Given the description of an element on the screen output the (x, y) to click on. 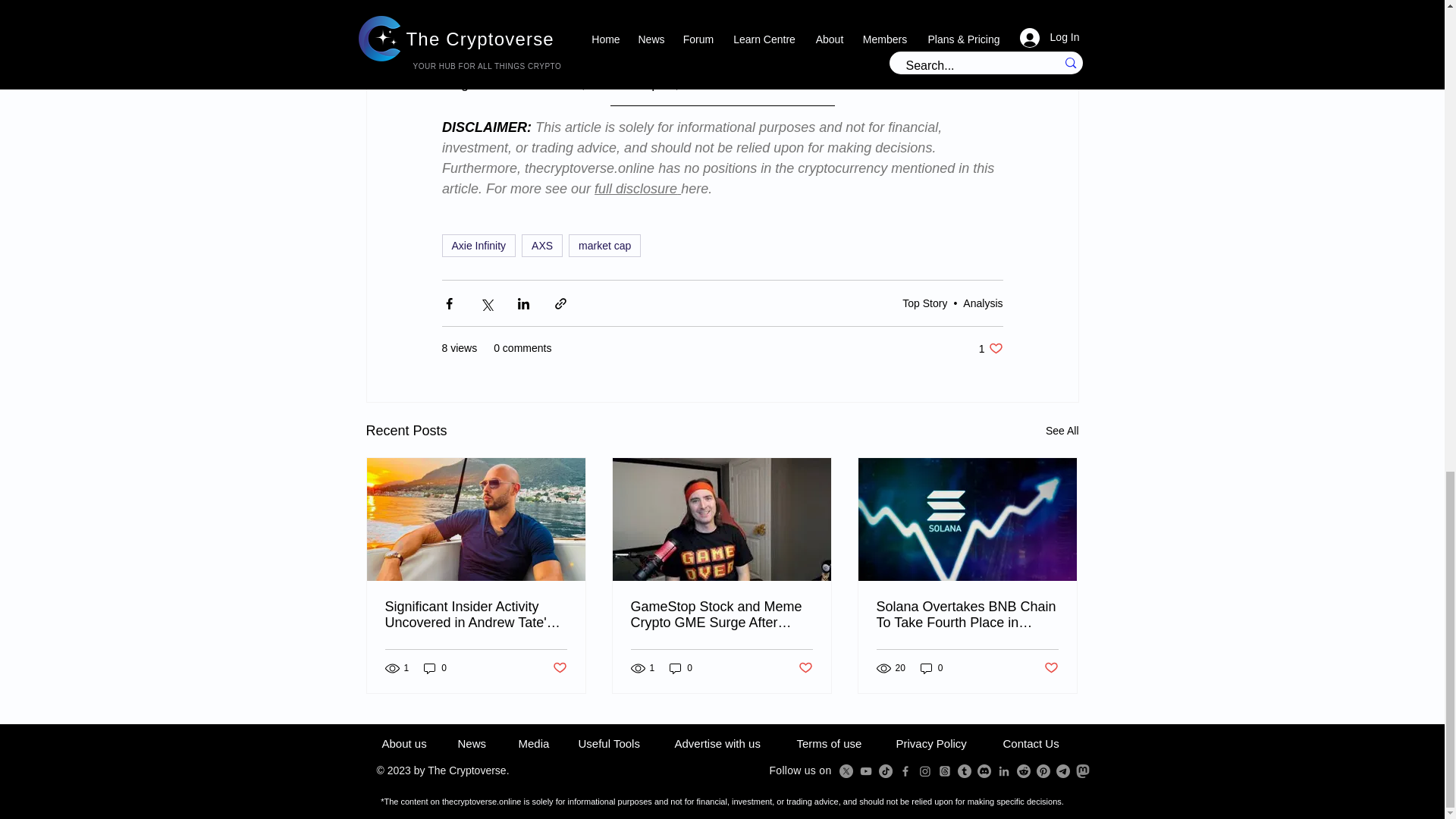
See All (1061, 431)
full disclosure (635, 188)
Analysis (990, 348)
market cap (982, 303)
Axie Infinity (604, 245)
0 (478, 245)
AXS (435, 667)
Top Story (541, 245)
